Given the description of an element on the screen output the (x, y) to click on. 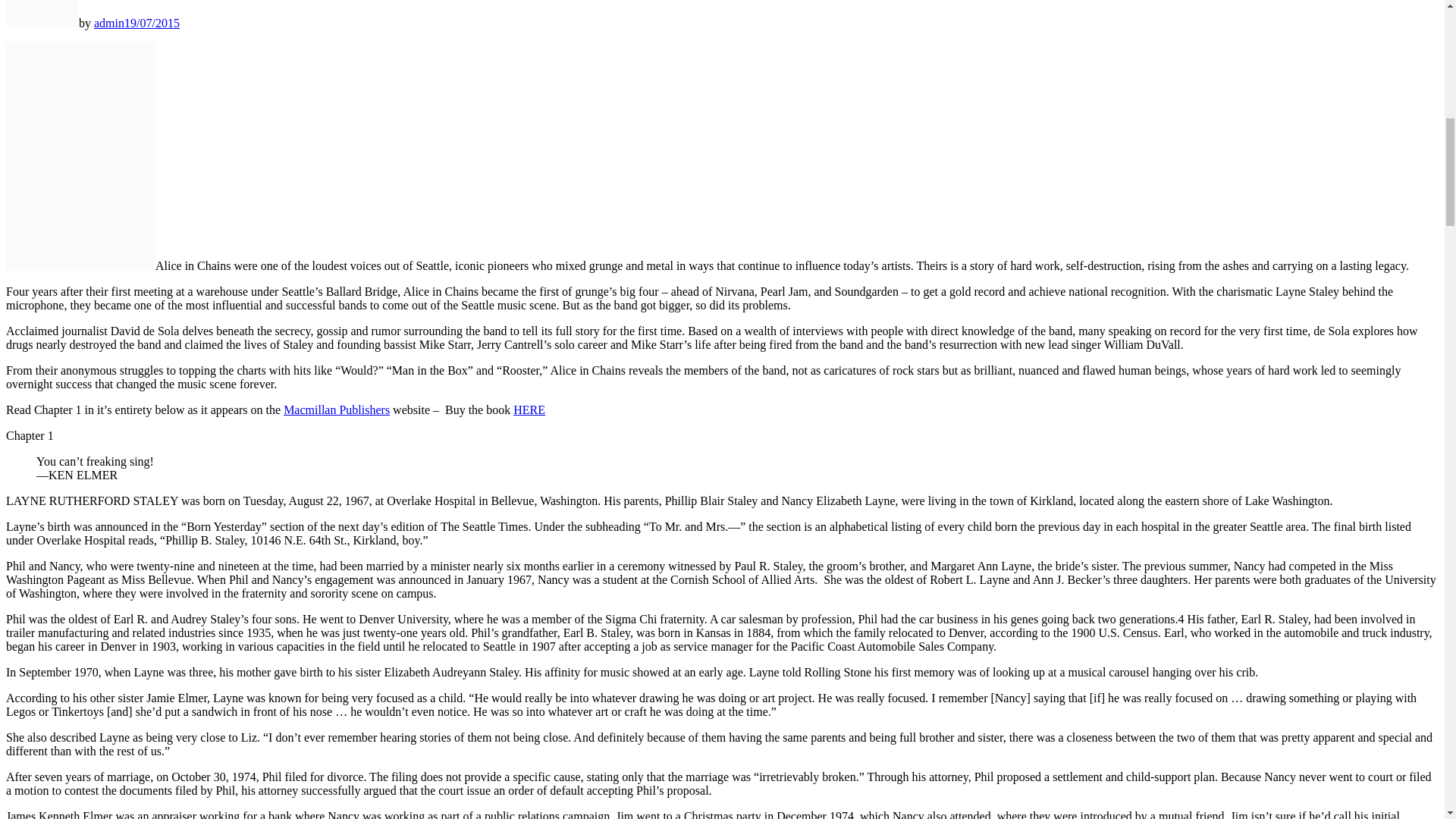
Macmillan Publishers (336, 409)
HERE (528, 409)
admin (108, 22)
